Given the description of an element on the screen output the (x, y) to click on. 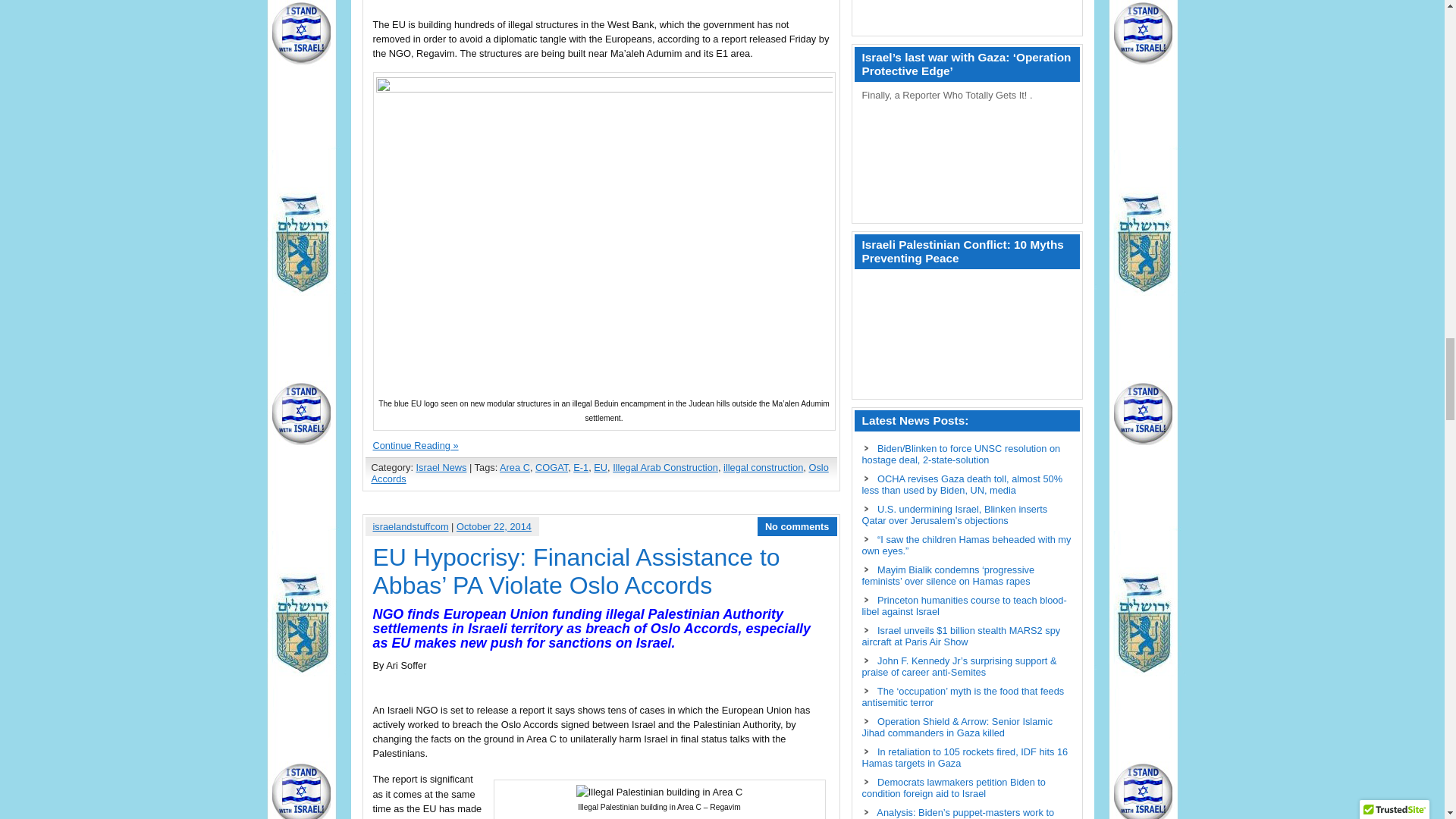
Posts by israelandstuffcom (410, 526)
